Given the description of an element on the screen output the (x, y) to click on. 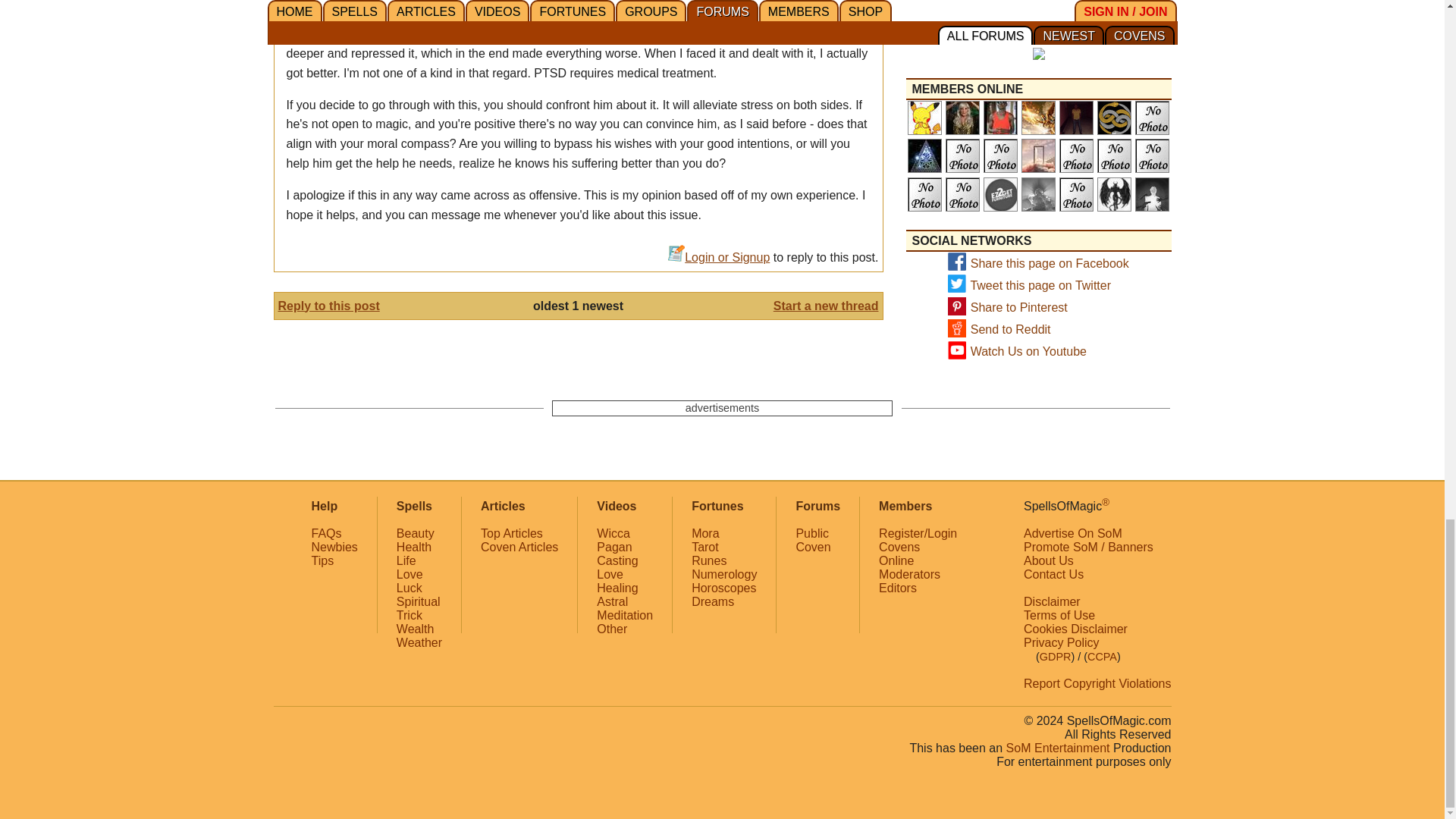
Ask (1108, 19)
